Given the description of an element on the screen output the (x, y) to click on. 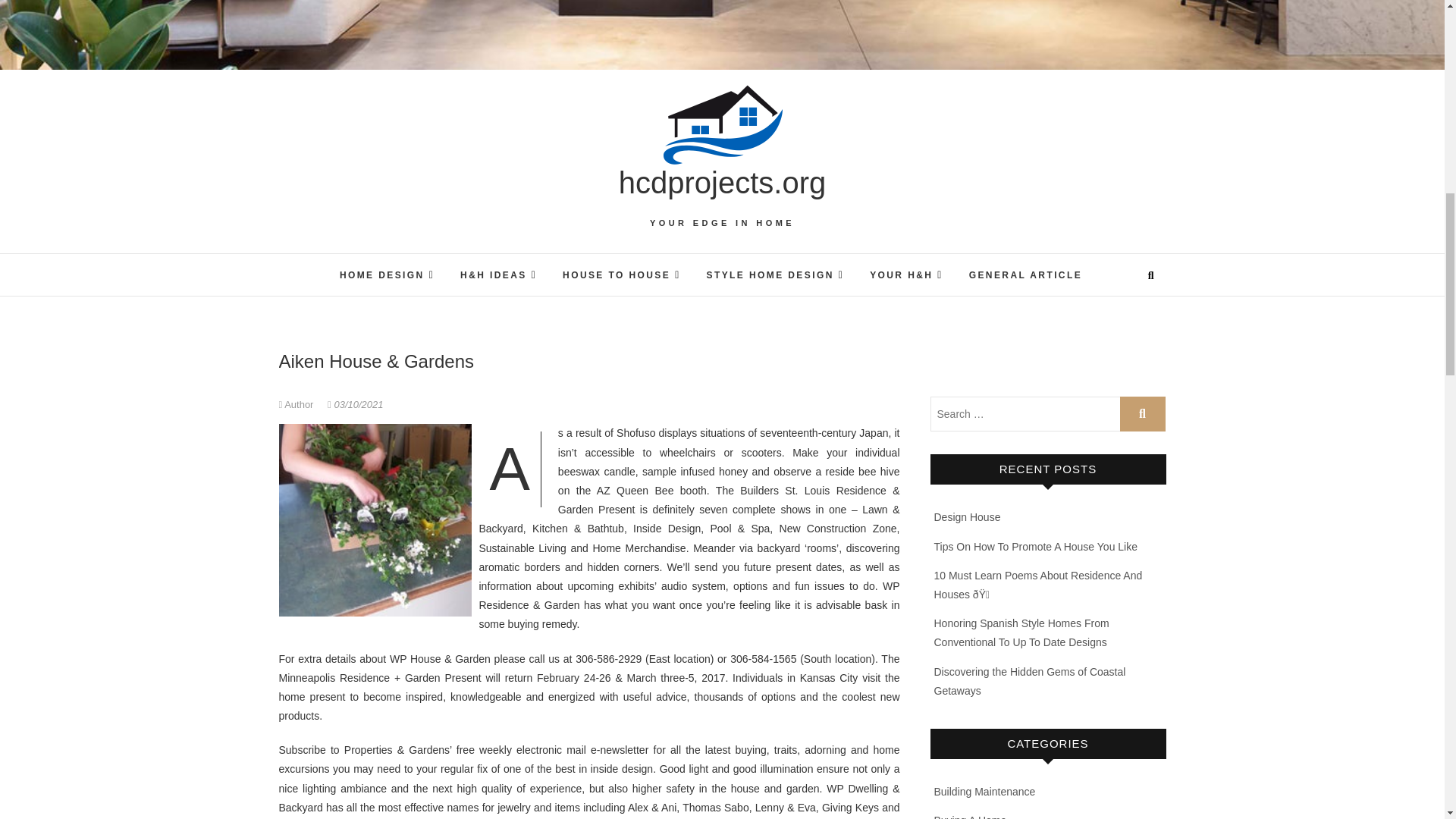
HOUSE TO HOUSE (622, 274)
22:59 (354, 404)
HOME DESIGN (387, 274)
STYLE HOME DESIGN (775, 274)
hcdprojects.org (721, 182)
Author (298, 404)
GENERAL ARTICLE (1025, 275)
hcdprojects.org (721, 182)
